Given the description of an element on the screen output the (x, y) to click on. 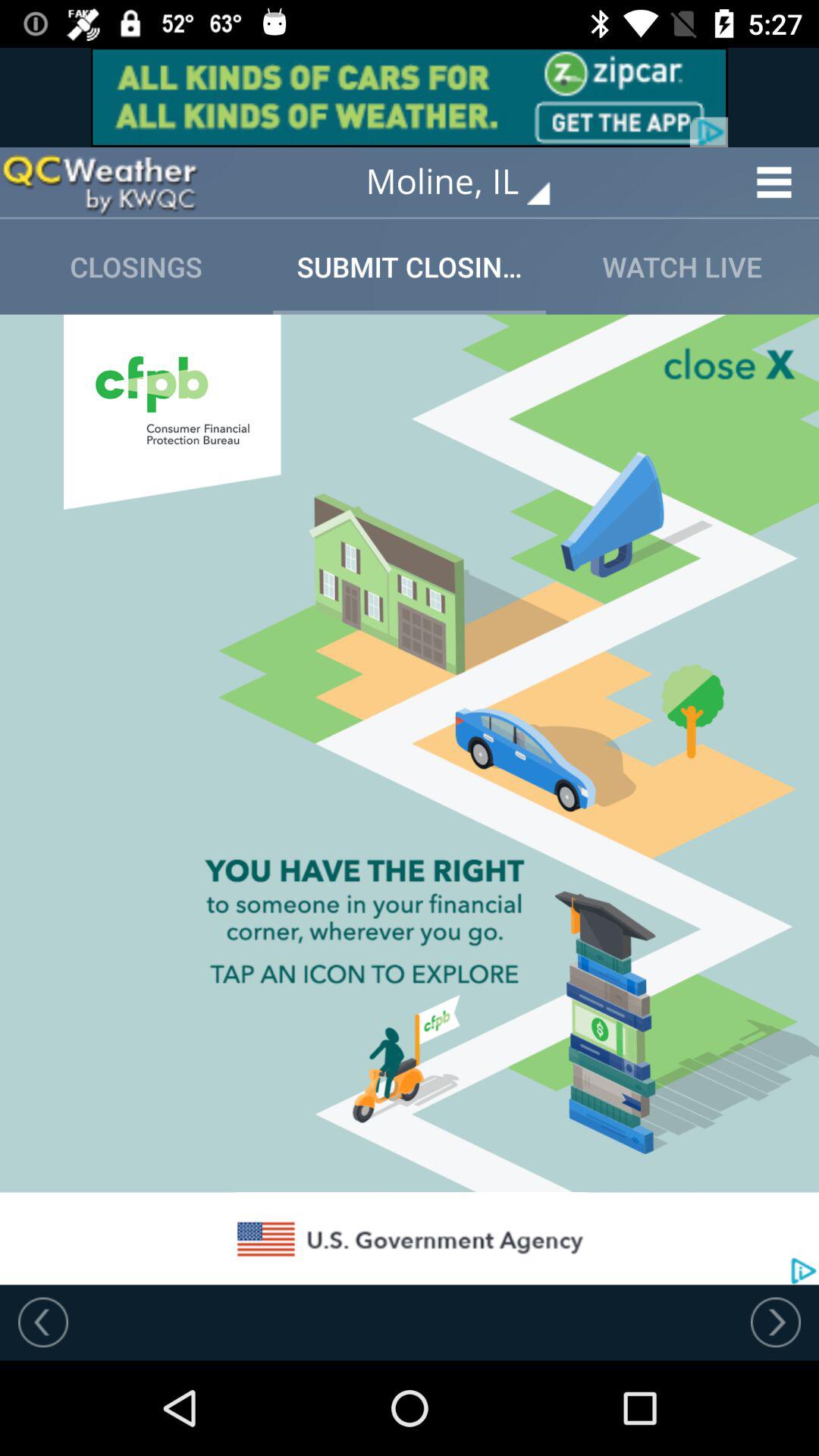
this option advertisement (99, 182)
